Given the description of an element on the screen output the (x, y) to click on. 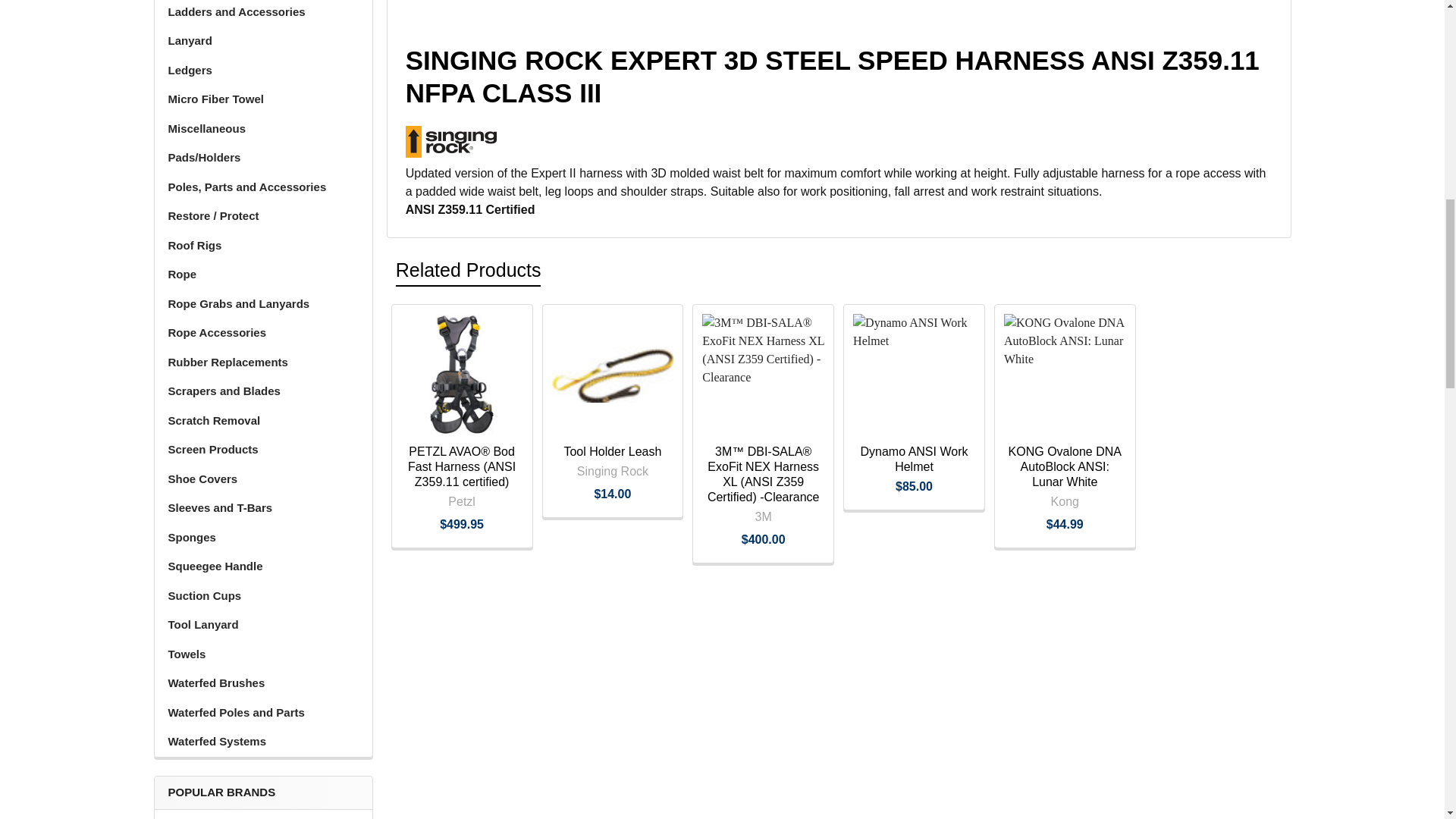
Unger (263, 817)
